Given the description of an element on the screen output the (x, y) to click on. 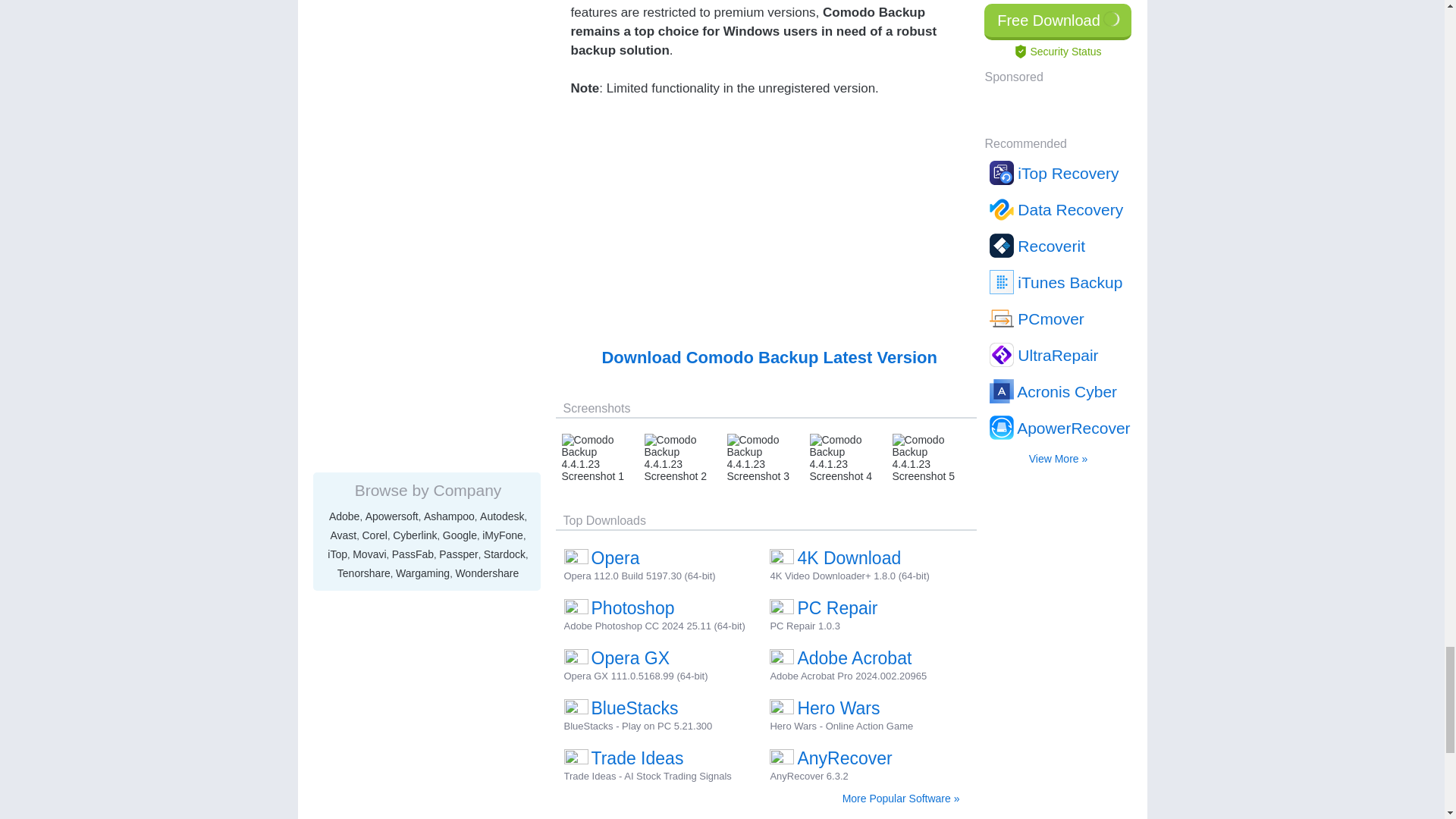
Download Comodo Backup 4.4.1.23 for Free (769, 357)
